Given the description of an element on the screen output the (x, y) to click on. 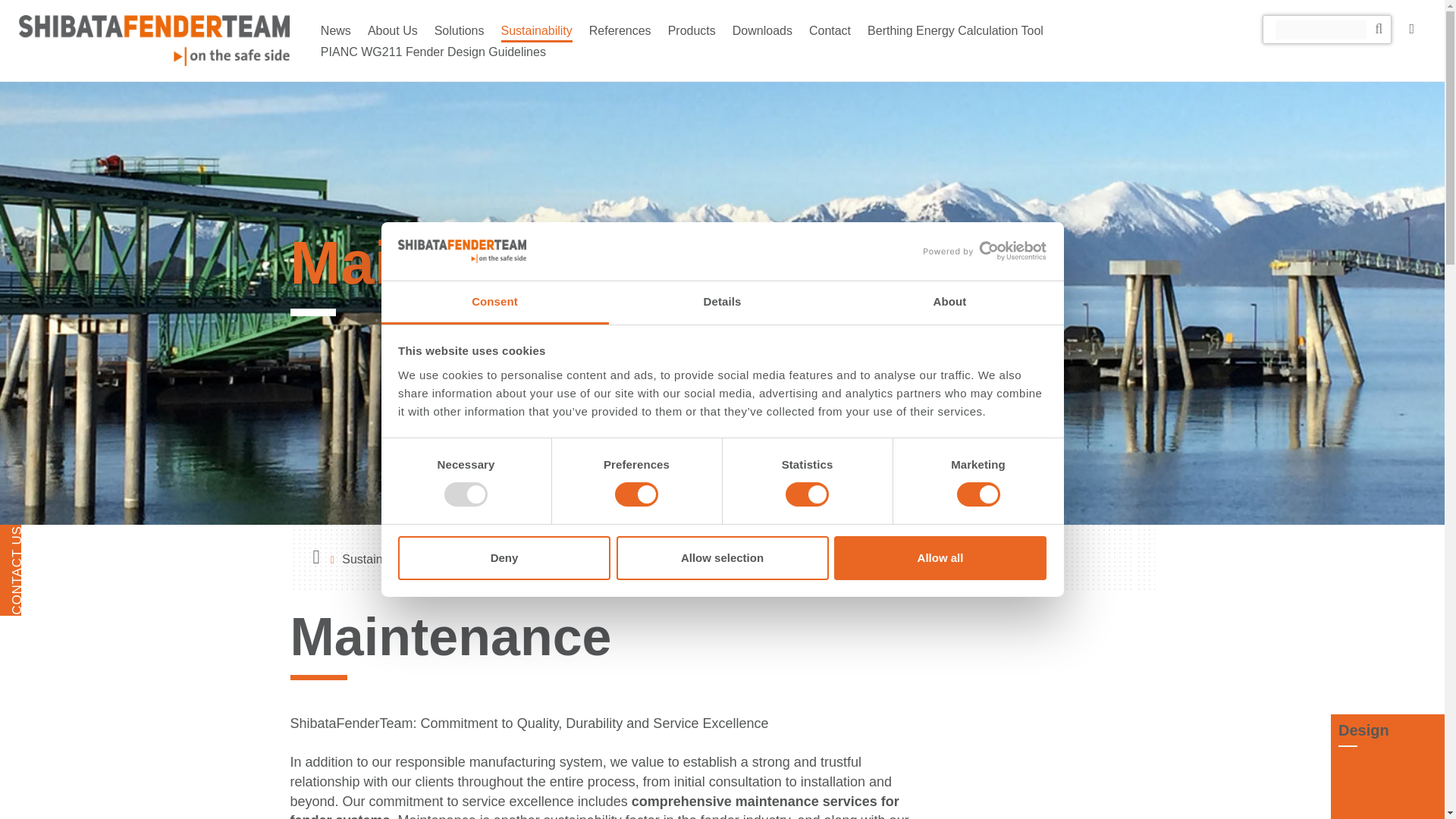
Deny (503, 557)
Allow all (940, 557)
Details (721, 302)
Consent (494, 302)
Allow selection (721, 557)
About (948, 302)
